Given the description of an element on the screen output the (x, y) to click on. 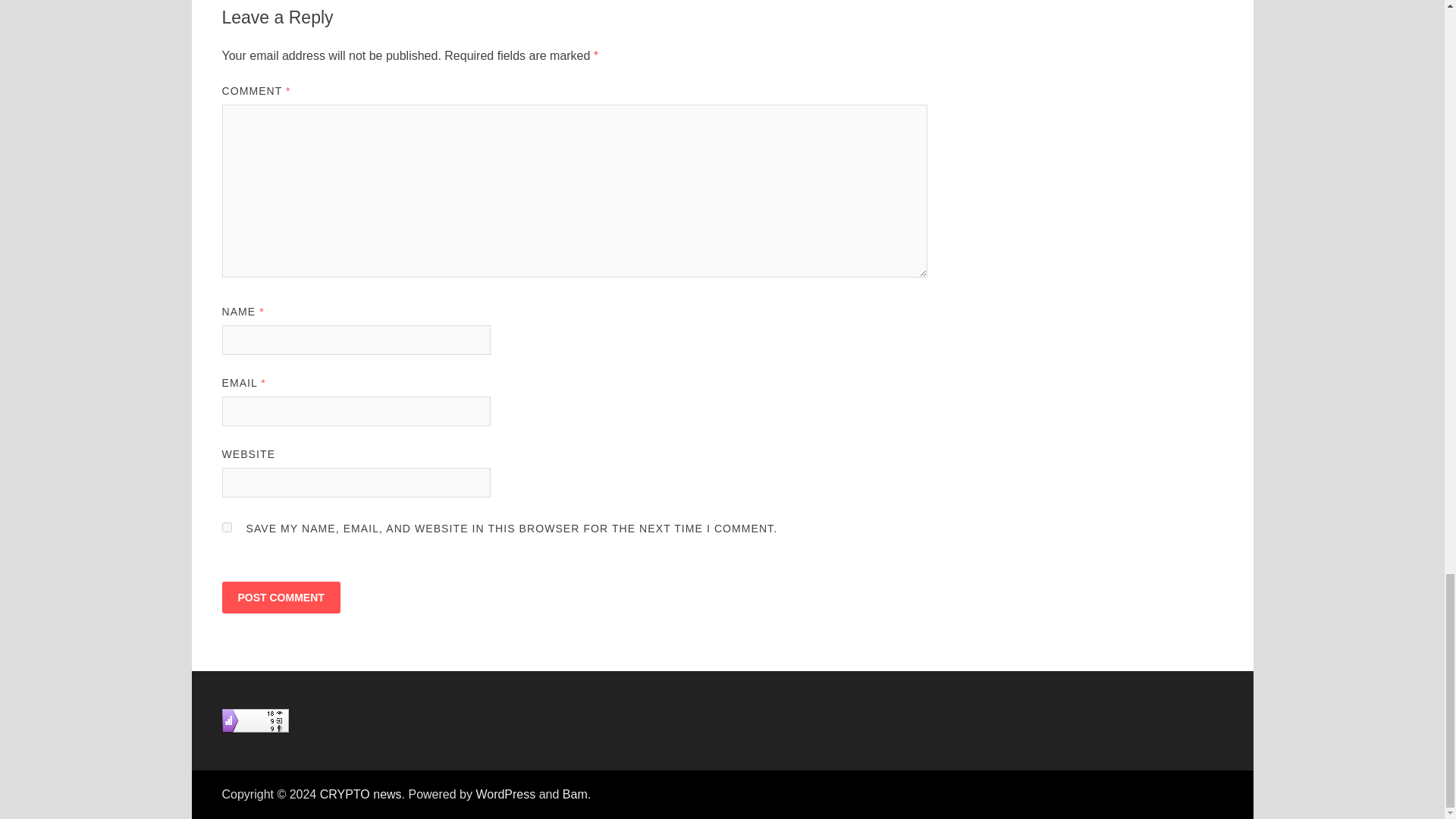
Post Comment (280, 597)
yes (226, 527)
CRYPTO news (360, 793)
